Given the description of an element on the screen output the (x, y) to click on. 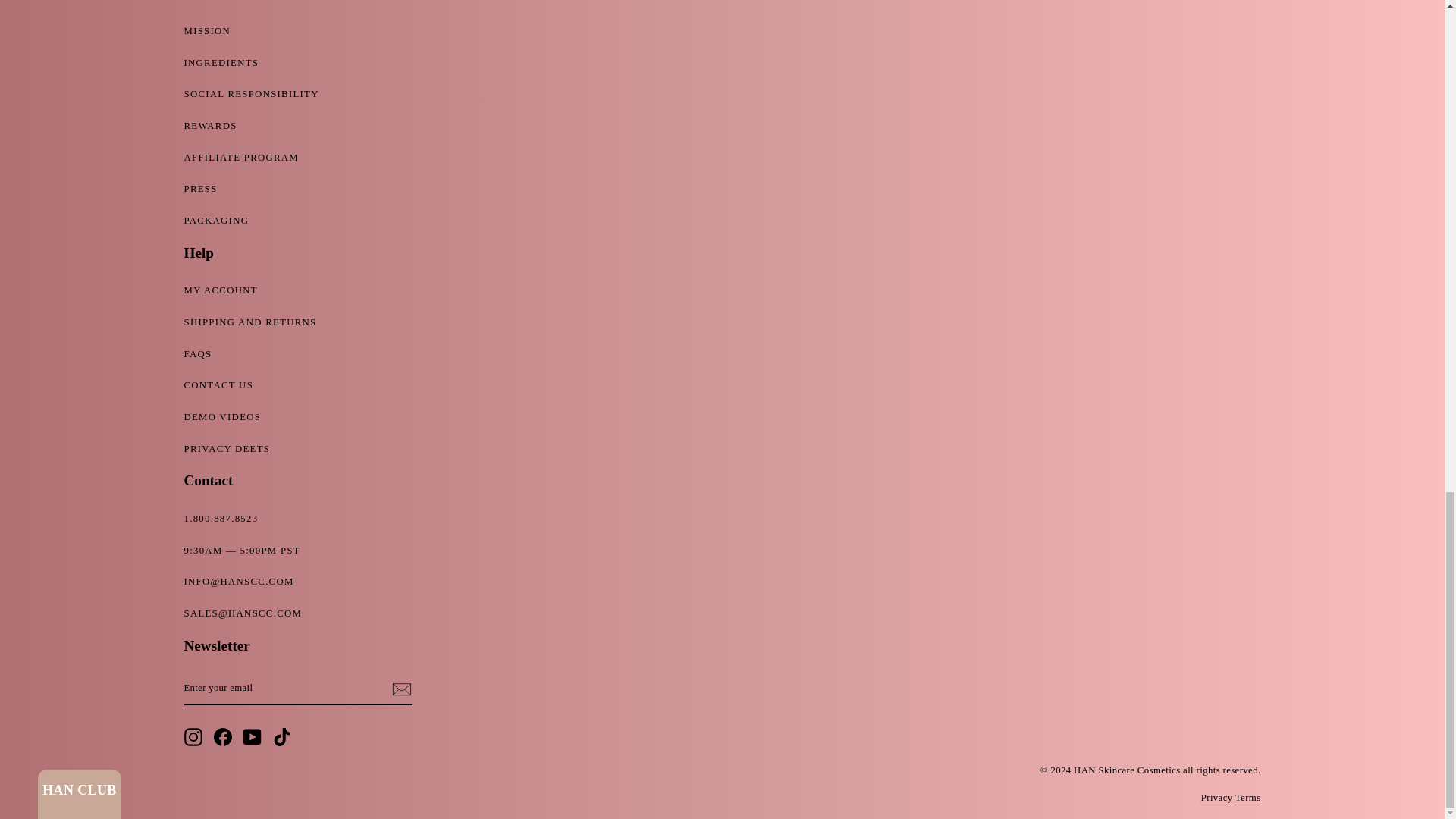
HAN Skincare Cosmetics on TikTok (282, 737)
HAN Skincare Cosmetics on Facebook (222, 737)
HAN Skincare Cosmetics on YouTube (251, 737)
HAN Skincare Cosmetics on Instagram (192, 737)
